Given the description of an element on the screen output the (x, y) to click on. 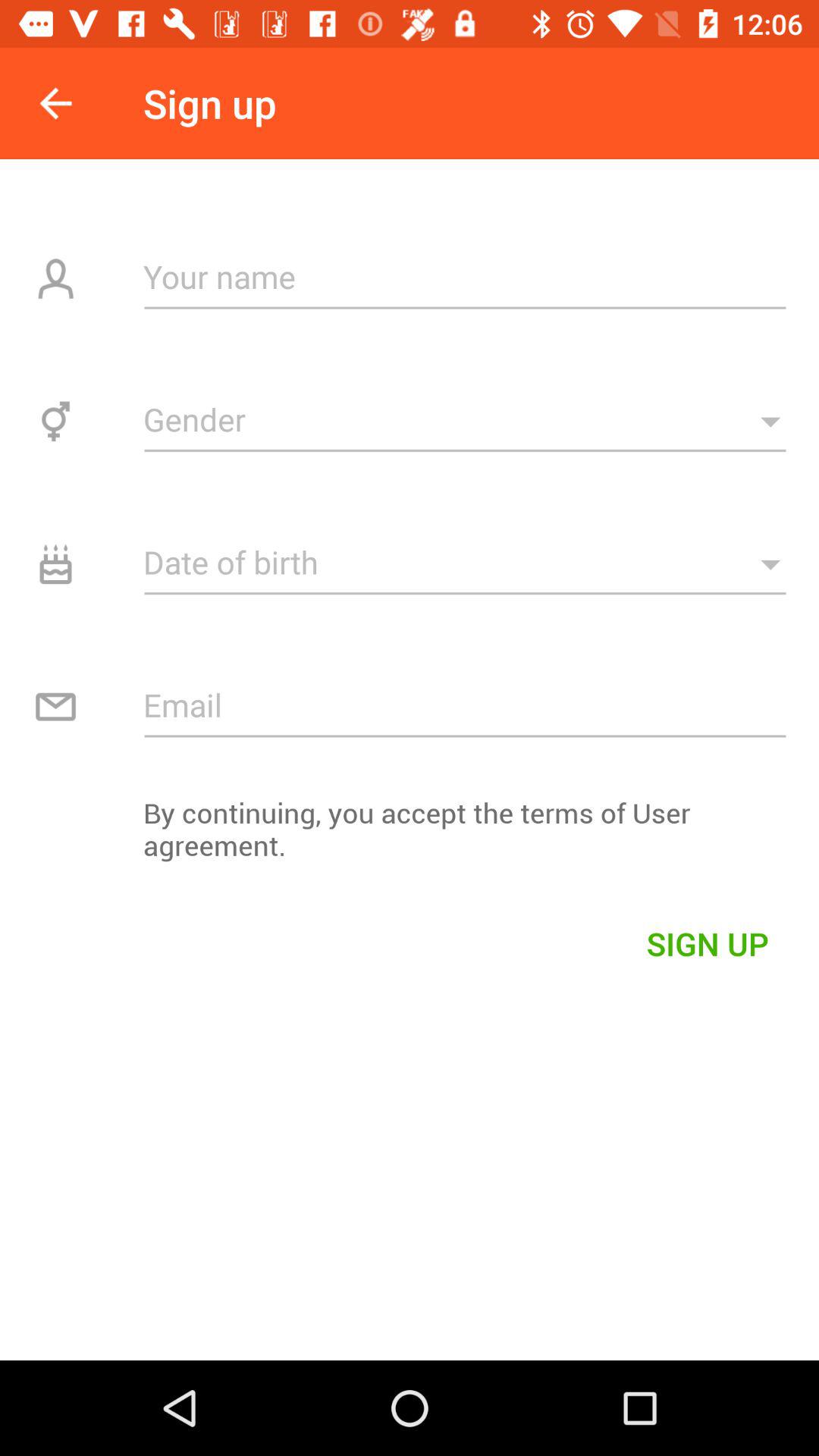
go back (55, 103)
